Given the description of an element on the screen output the (x, y) to click on. 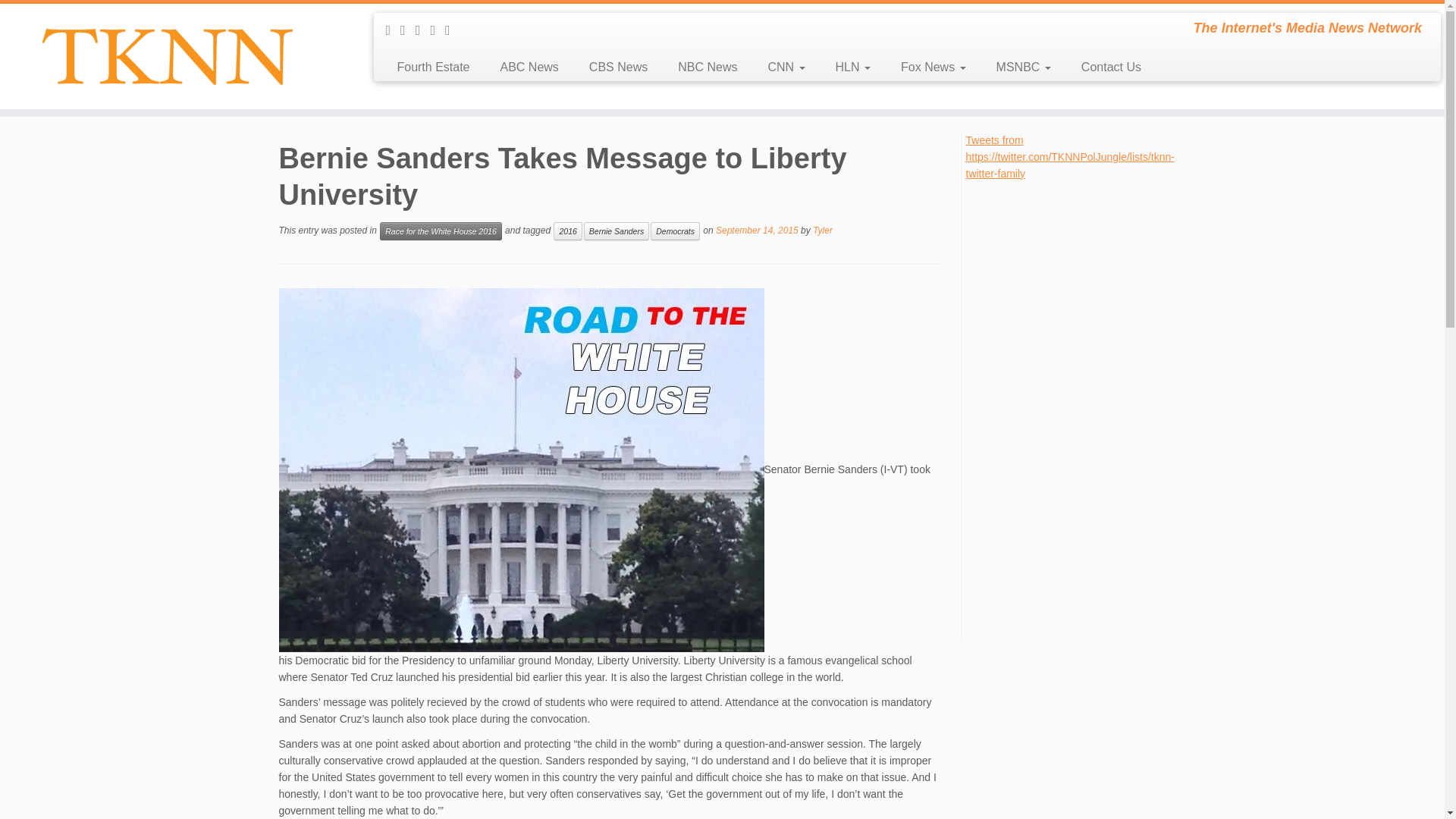
ABC News (528, 67)
10:22 PM (756, 230)
CNN (785, 67)
Fox News (933, 67)
CBS News (617, 67)
Follow me on Twitter (422, 29)
MSNBC (1023, 67)
E-mail (407, 29)
September 14, 2015 (756, 230)
View all posts by Tyler (822, 230)
Democrats (675, 230)
2016 (566, 230)
View all posts in Democrats (675, 230)
NBC News (707, 67)
Race for the White House 2016 (441, 230)
